Given the description of an element on the screen output the (x, y) to click on. 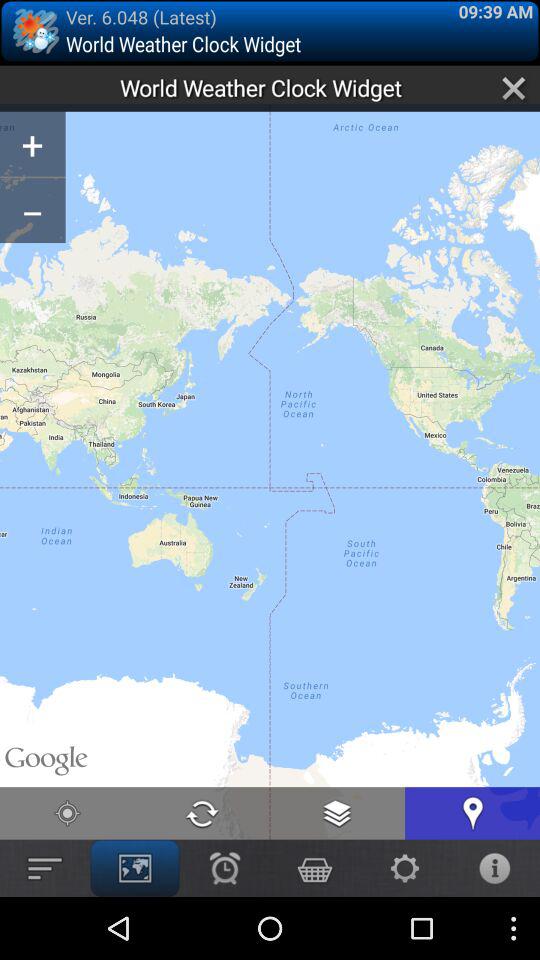
launch icon at the center (270, 419)
